Given the description of an element on the screen output the (x, y) to click on. 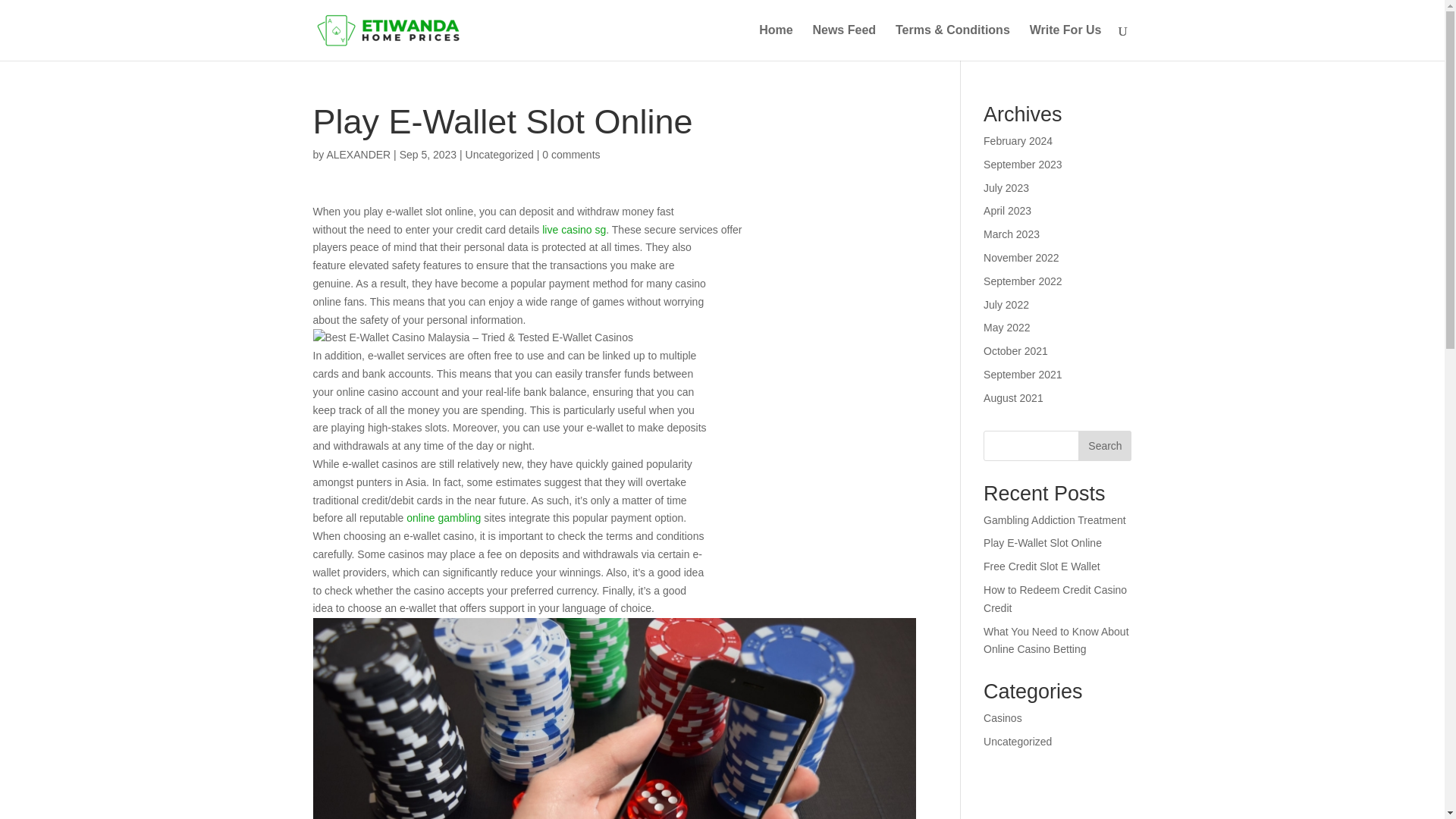
online gambling (443, 517)
Home (775, 42)
Search (1104, 445)
ALEXANDER (358, 154)
live casino sg (573, 229)
Uncategorized (499, 154)
How to Redeem Credit Casino Credit  (1055, 598)
July 2022 (1006, 304)
September 2022 (1023, 281)
April 2023 (1007, 210)
Play E-Wallet Slot Online (1043, 542)
Posts by ALEXANDER (358, 154)
February 2024 (1018, 141)
Casinos (1003, 717)
October 2021 (1016, 350)
